Given the description of an element on the screen output the (x, y) to click on. 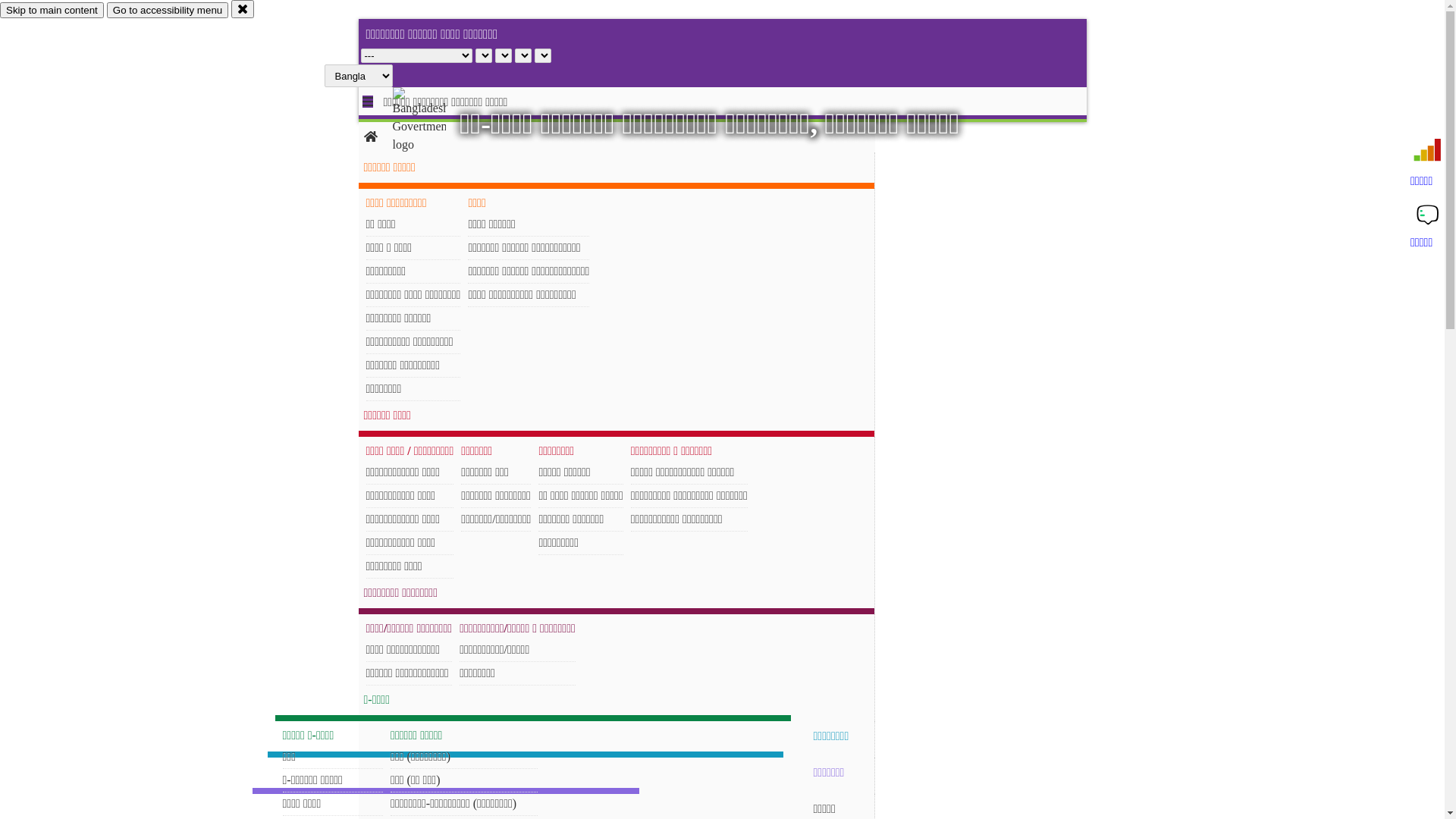

                
             Element type: hover (431, 120)
Skip to main content Element type: text (51, 10)
Go to accessibility menu Element type: text (167, 10)
close Element type: hover (242, 9)
